Given the description of an element on the screen output the (x, y) to click on. 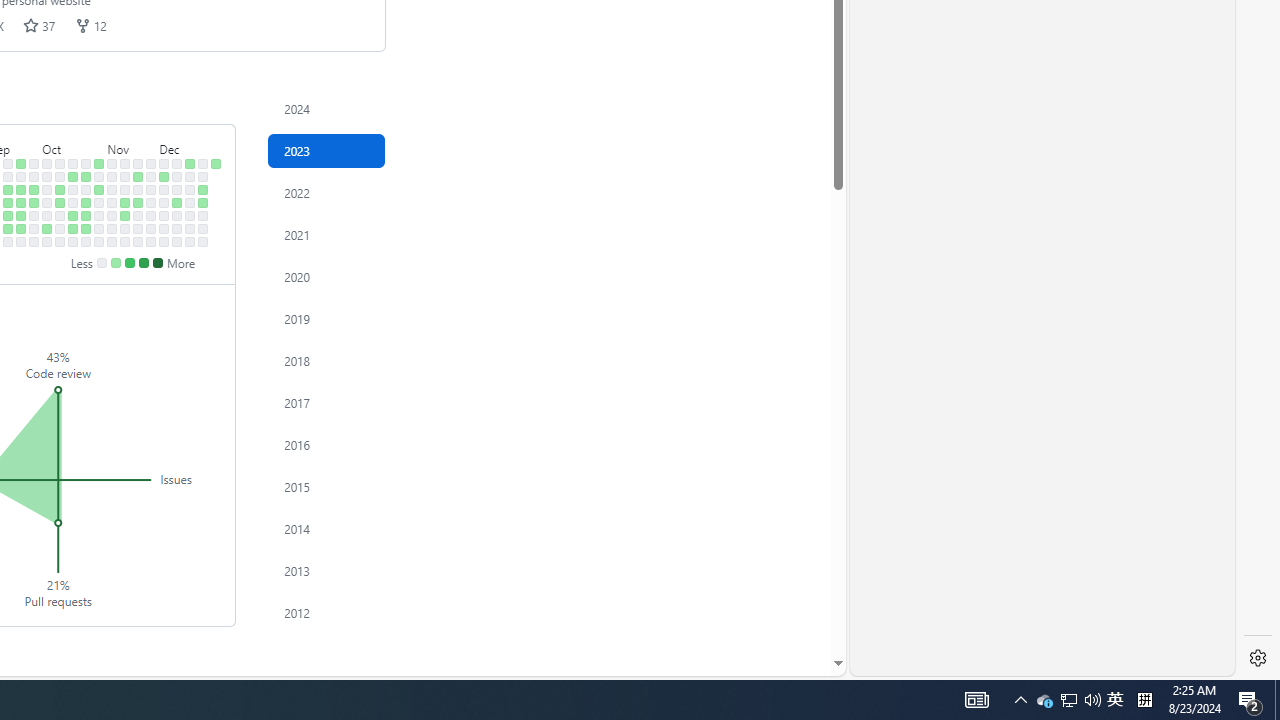
No contributions on November 25th. (138, 241)
No contributions on December 2nd. (151, 241)
No contributions on November 9th. (112, 215)
No contributions on December 28th. (203, 215)
4 contributions on December 27th. (203, 202)
2019 (326, 318)
No contributions on October 9th. (60, 176)
No contributions on November 8th. (112, 202)
Contribution activity in 2023 (326, 150)
1 contribution on November 15th. (125, 202)
No contributions on December 3rd. (164, 163)
No contributions on September 30th. (34, 241)
No contributions on October 24th. (86, 189)
2018 (326, 360)
Contribution activity in 2013 (326, 570)
